Given the description of an element on the screen output the (x, y) to click on. 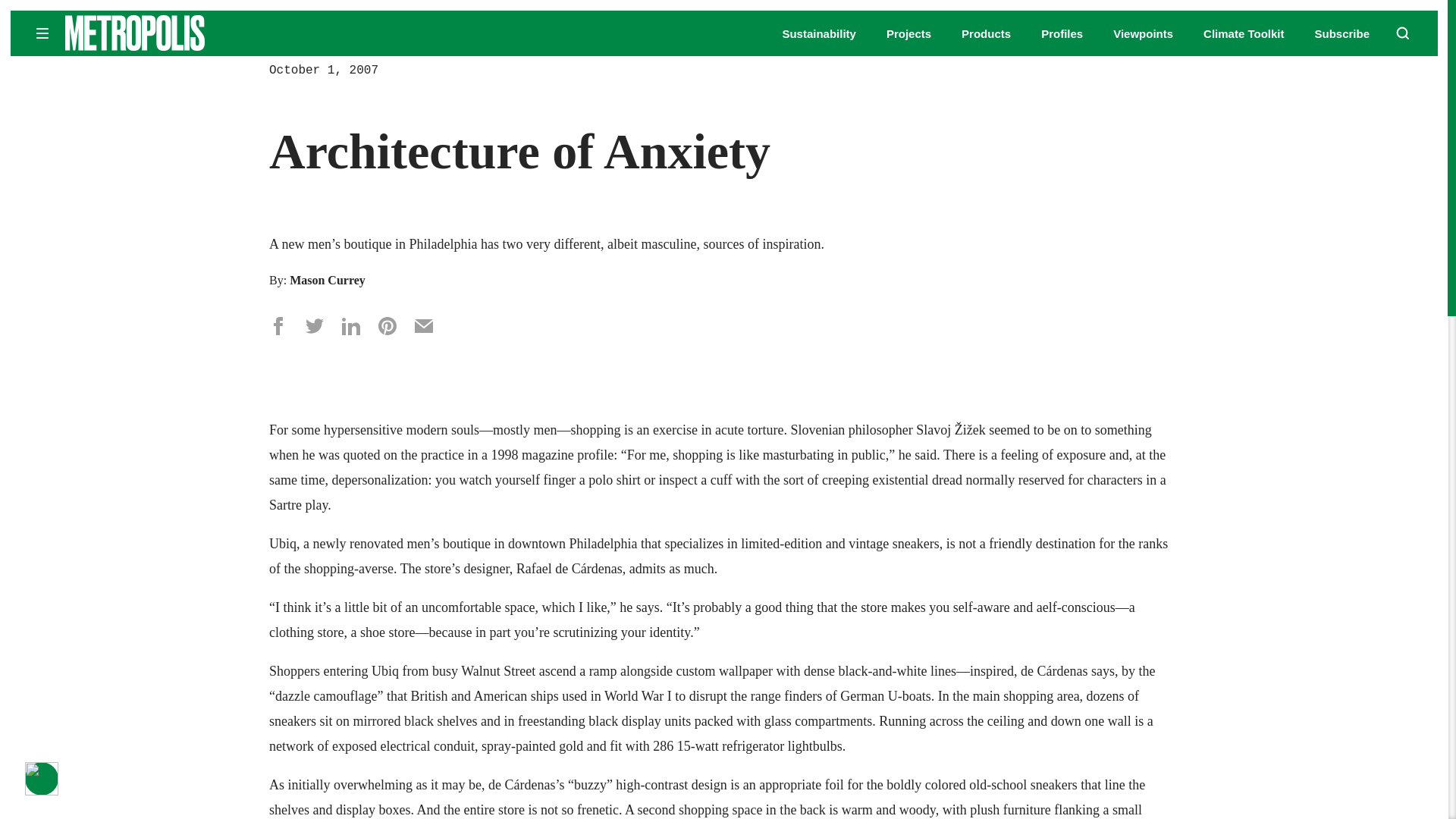
METROPOLIS (181, 33)
Accessibility Menu (41, 778)
Viewpoints (1143, 33)
Subscribe (1342, 33)
Products (985, 33)
Sustainability (818, 33)
Projects (908, 33)
Profiles (1062, 33)
Climate Toolkit (1244, 33)
